Given the description of an element on the screen output the (x, y) to click on. 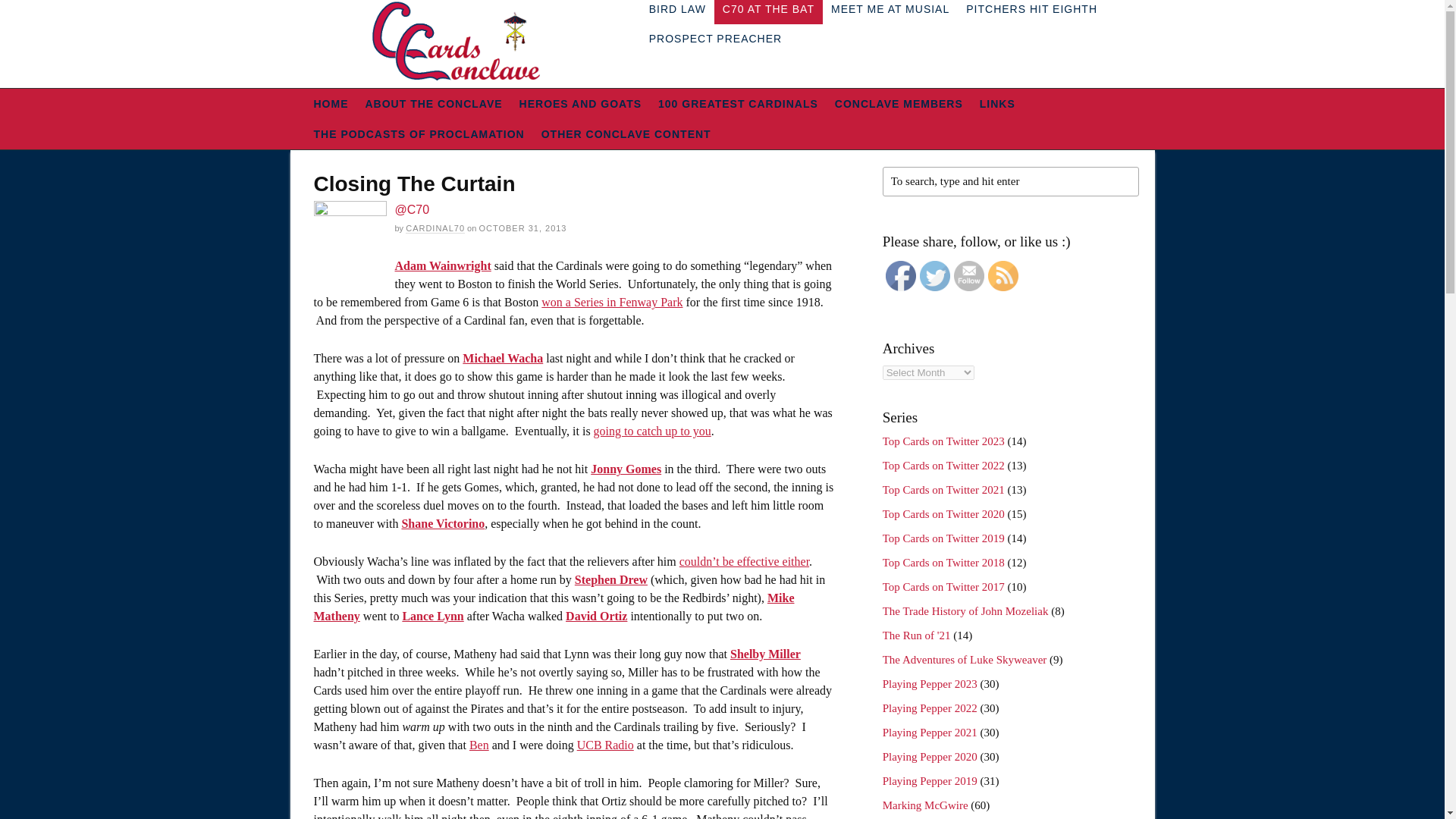
Facebook (900, 276)
MEET ME AT MUSIAL (890, 12)
won a Series in Fenway Park (611, 301)
Adam Wainwright (442, 265)
Follow by Email (968, 276)
CARDINAL70 (435, 228)
Twitter (935, 276)
THE PODCASTS OF PROCLAMATION (418, 133)
OTHER CONCLAVE CONTENT (625, 133)
C70 AT THE BAT (768, 12)
100 GREATEST CARDINALS (738, 103)
CONCLAVE MEMBERS (899, 103)
To search, type and hit enter (1010, 181)
2013-10-31 (522, 227)
RSS (1002, 276)
